Given the description of an element on the screen output the (x, y) to click on. 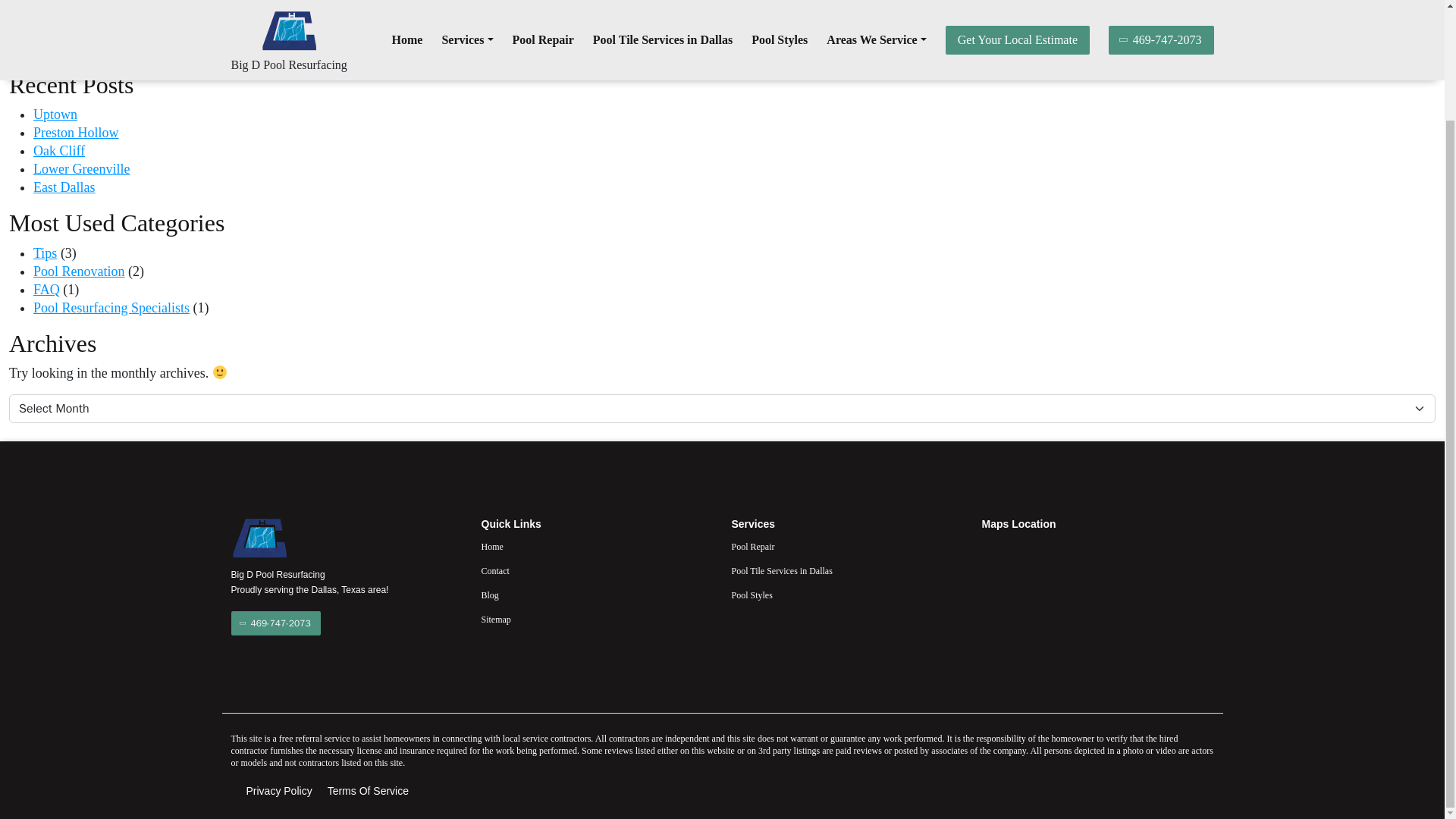
Pool Resurfacing Specialists (111, 307)
Search (1406, 55)
Search (1406, 55)
FAQ (46, 289)
Tips (44, 253)
Pool Renovation (79, 271)
Preston Hollow (76, 132)
Lower Greenville (81, 168)
Search (1406, 55)
East Dallas (63, 186)
Oak Cliff (58, 150)
Uptown (55, 114)
